Given the description of an element on the screen output the (x, y) to click on. 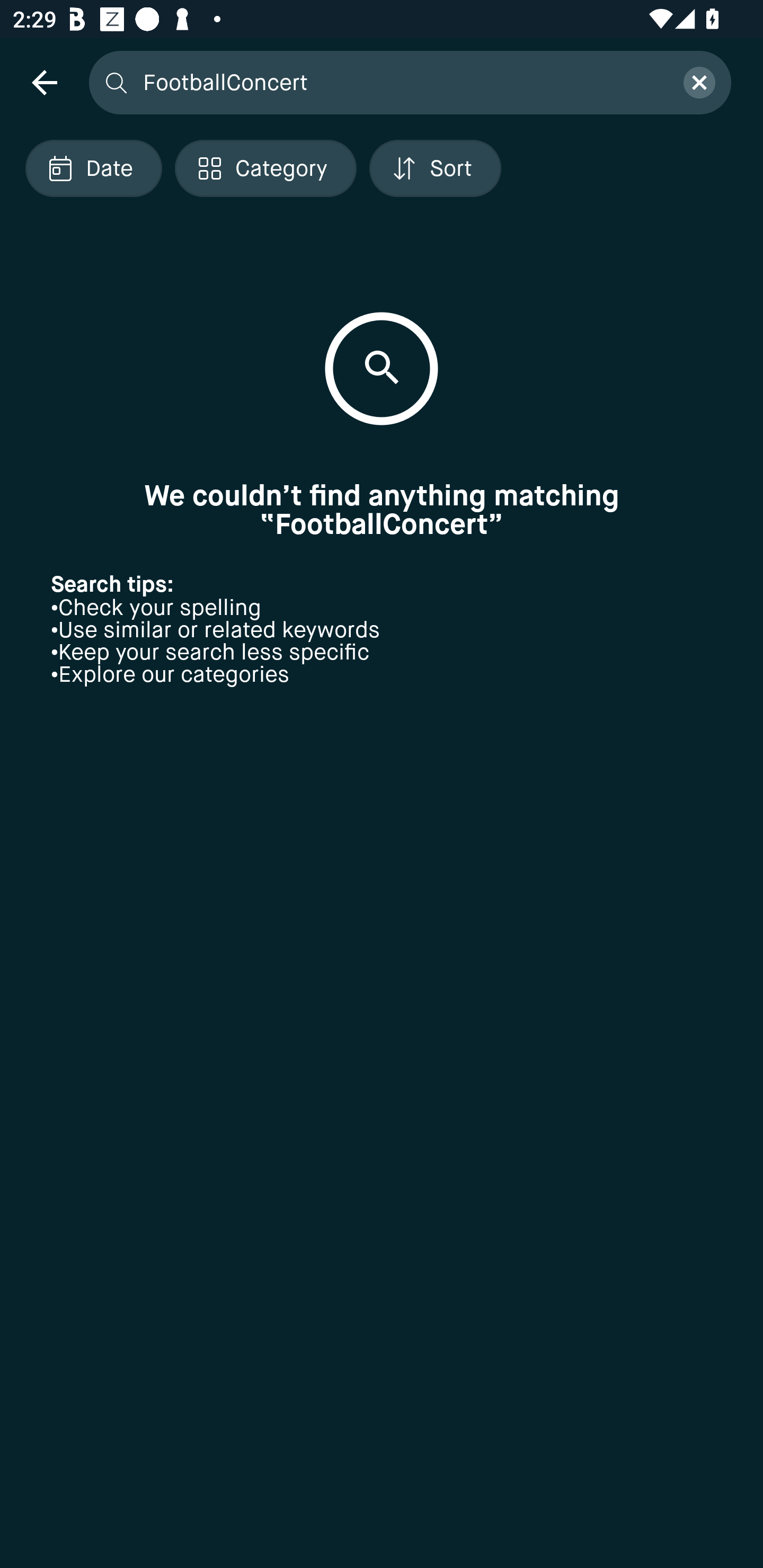
navigation icon (44, 81)
FootballConcert (402, 81)
Localized description Date (93, 168)
Localized description Category (265, 168)
Localized description Sort (435, 168)
